Given the description of an element on the screen output the (x, y) to click on. 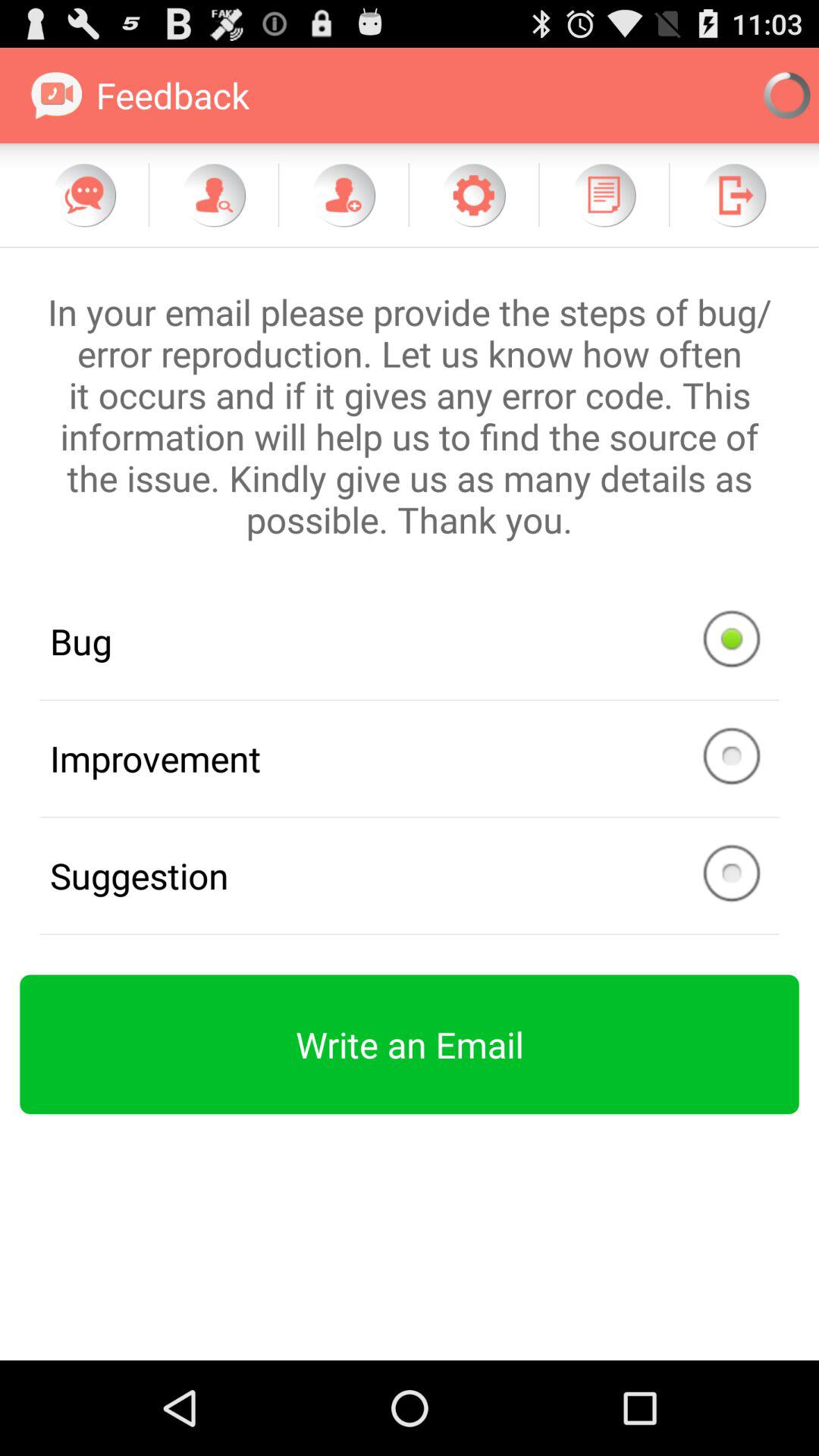
send to (734, 194)
